Given the description of an element on the screen output the (x, y) to click on. 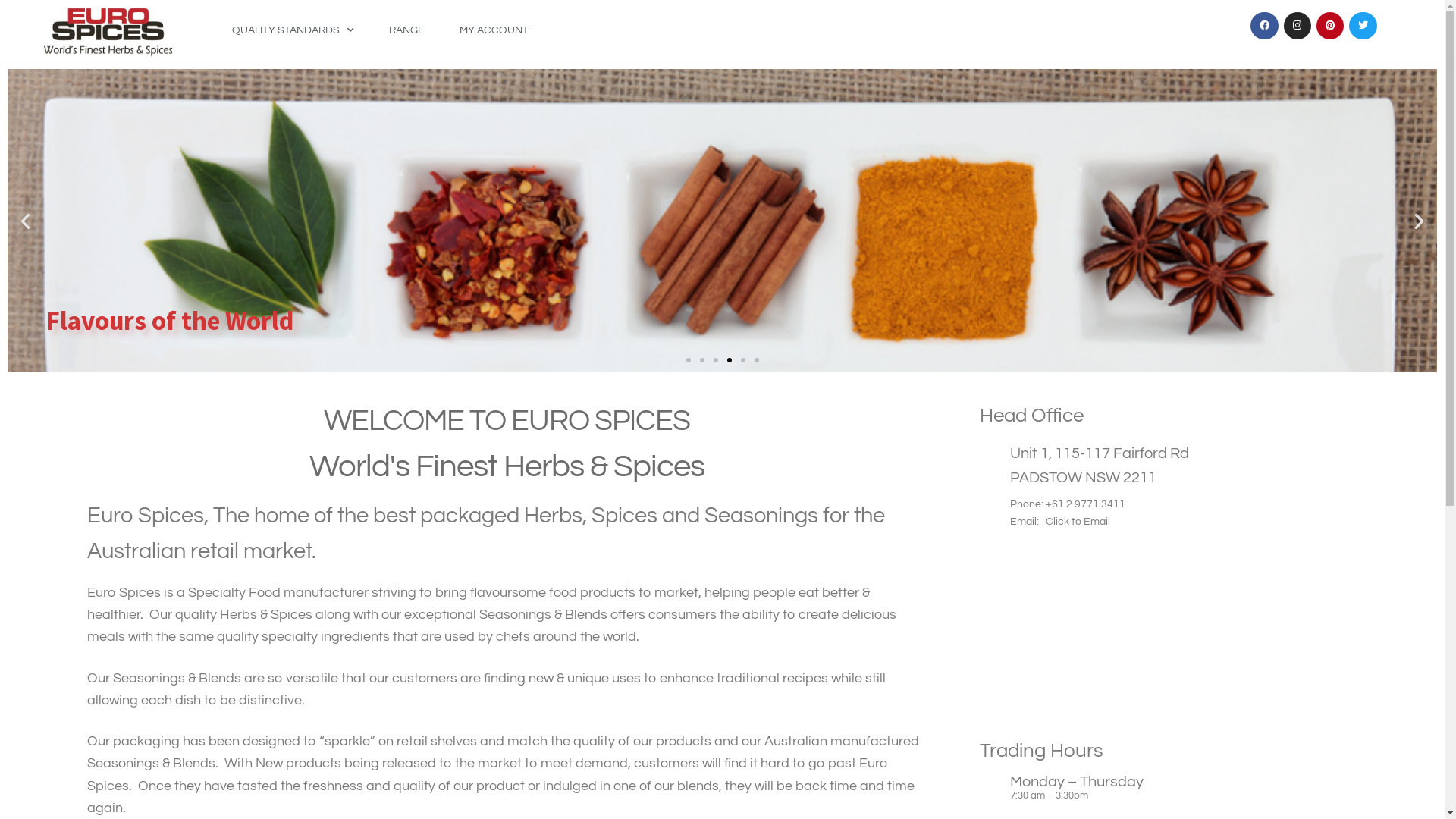
QUALITY STANDARDS Element type: text (292, 30)
Unit 1, 115-117 Fairford Rd Element type: text (1099, 453)
MY ACCOUNT Element type: text (493, 30)
RANGE Element type: text (406, 30)
  Click to Email Element type: text (1075, 521)
PADSTOW NSW 2211 Element type: text (1083, 477)
  EURO SPICES Element type: hover (1198, 639)
